Given the description of an element on the screen output the (x, y) to click on. 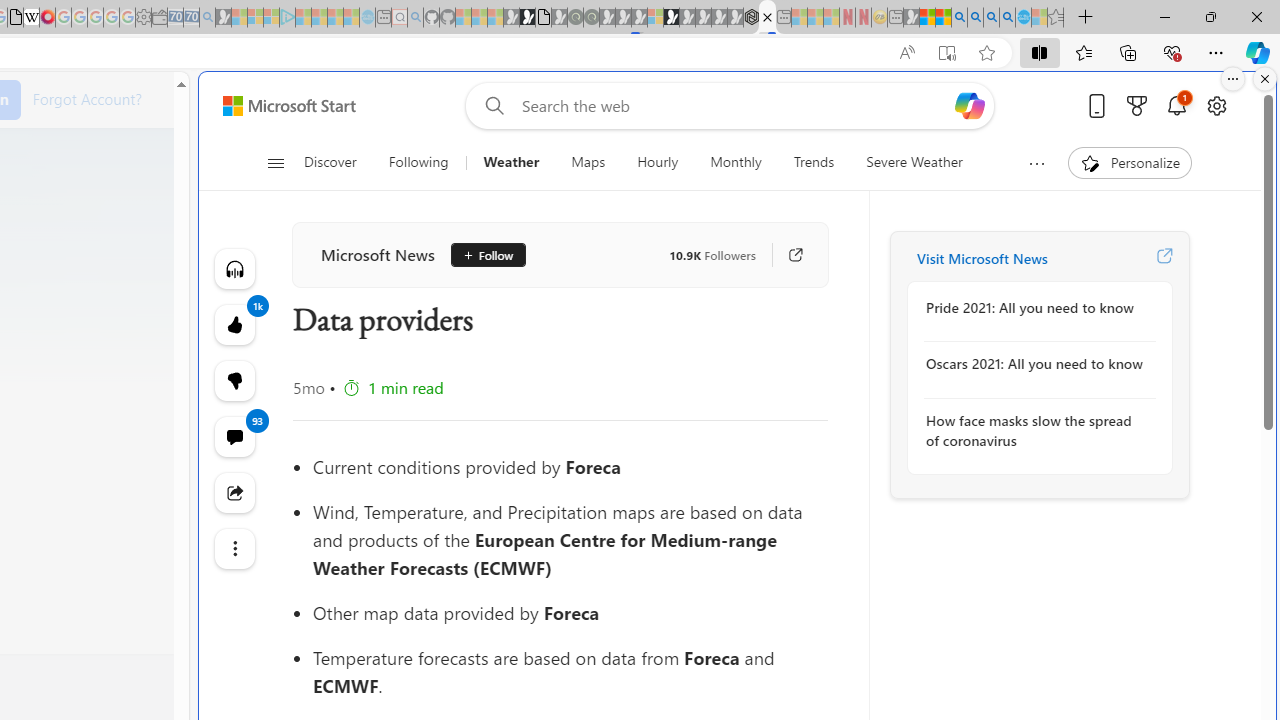
Collections (1128, 52)
Class: button-glyph (275, 162)
Split screen (1039, 52)
How face masks slow the spread of coronavirus (1034, 429)
See more (234, 548)
Notifications (1176, 105)
Trends (813, 162)
Enter Immersive Reader (F9) (946, 53)
Bing AI - Search (959, 17)
Listen to this article (234, 268)
Favorites (1083, 52)
Browser essentials (1171, 52)
